Given the description of an element on the screen output the (x, y) to click on. 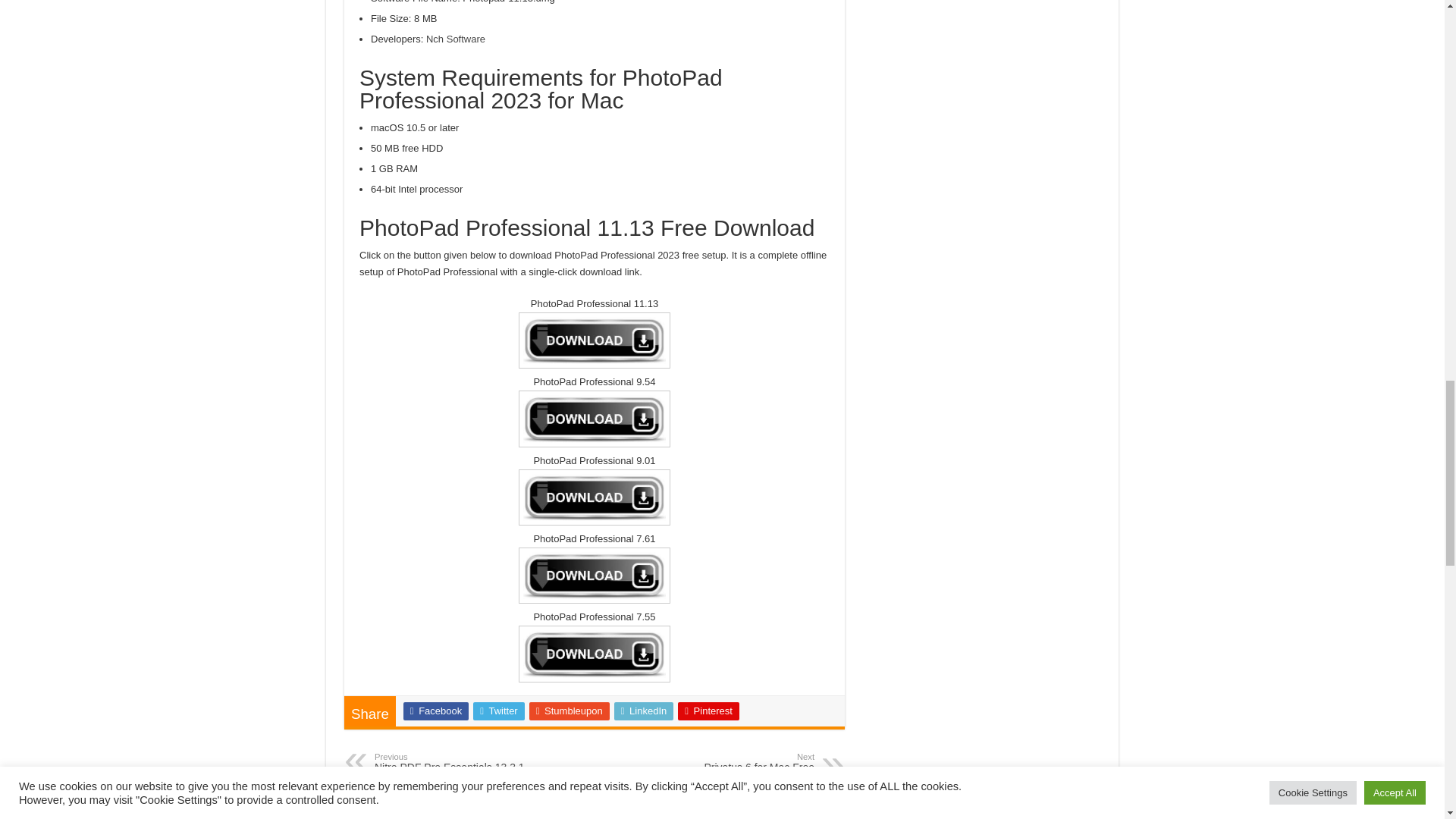
Pinterest (708, 710)
Facebook (435, 710)
Nch Software (455, 39)
Twitter (498, 710)
LinkedIn (644, 710)
Stumbleupon (451, 762)
